Given the description of an element on the screen output the (x, y) to click on. 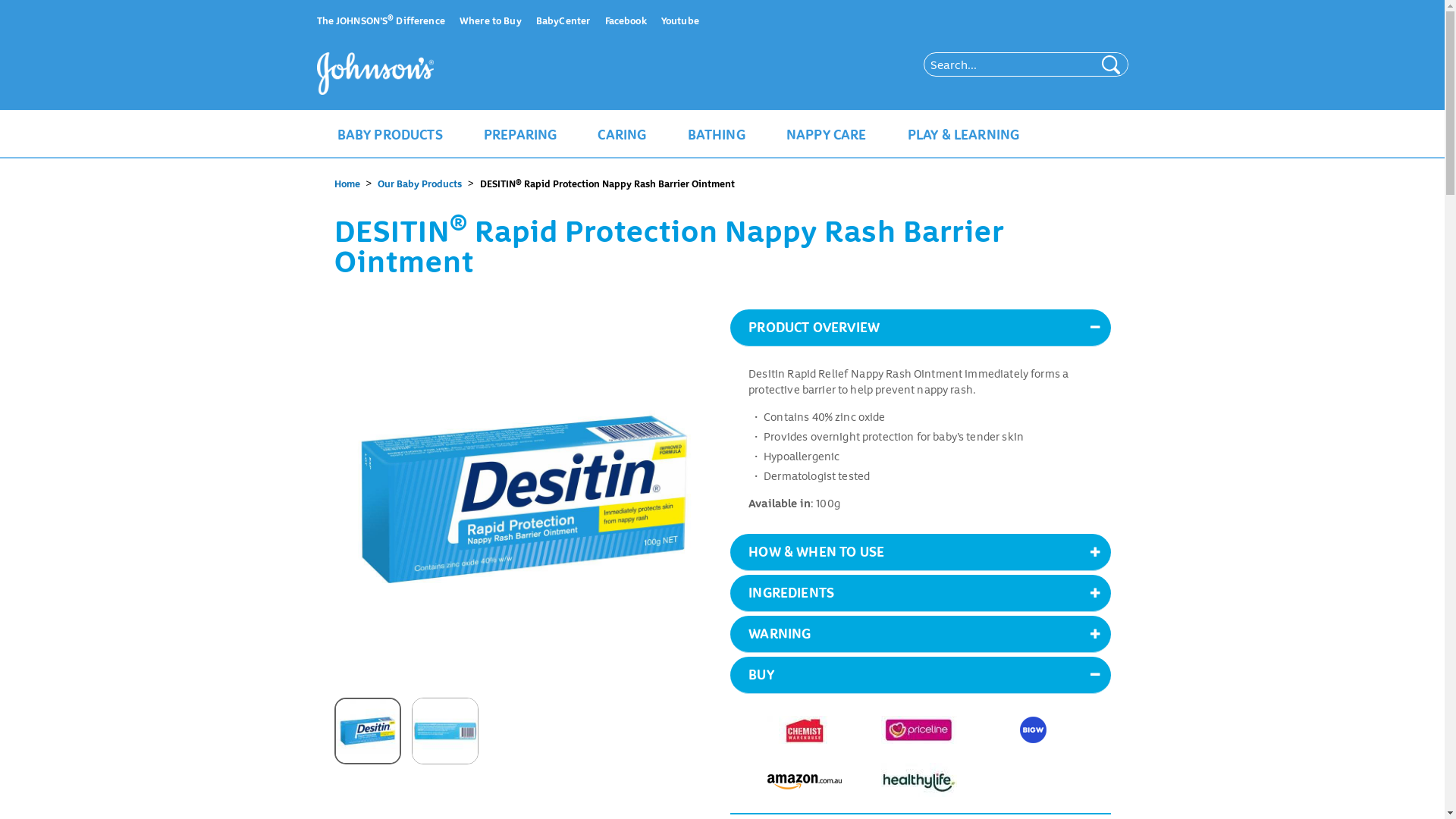
Home Element type: text (347, 183)
BUY Element type: text (920, 674)
INGREDIENTS Element type: text (920, 592)
NAPPY CARE Element type: text (826, 132)
HOW & WHEN TO USE Element type: text (920, 552)
Our Baby Products Element type: text (419, 183)
BabyCenter Element type: text (562, 20)
WARNING Element type: text (920, 633)
Enter the terms you wish to search for. Element type: hover (1008, 64)
Home Element type: hover (384, 73)
Skip to main content Element type: text (51, 0)
PRODUCT OVERVIEW Element type: text (920, 327)
Search Element type: text (1109, 64)
Destin - Direction to Use Element type: hover (444, 730)
PREPARING Element type: text (520, 132)
Priceline Element type: hover (919, 729)
Youtube Element type: text (680, 20)
Chemist Warehouse Element type: hover (804, 729)
PLAY & LEARNING Element type: text (963, 132)
BATHING Element type: text (716, 132)
Submit Element type: text (260, 12)
BABY PRODUCTS Element type: text (389, 132)
CARING Element type: text (621, 132)
Facebook Element type: text (625, 20)
Where to Buy Element type: text (490, 20)
